Given the description of an element on the screen output the (x, y) to click on. 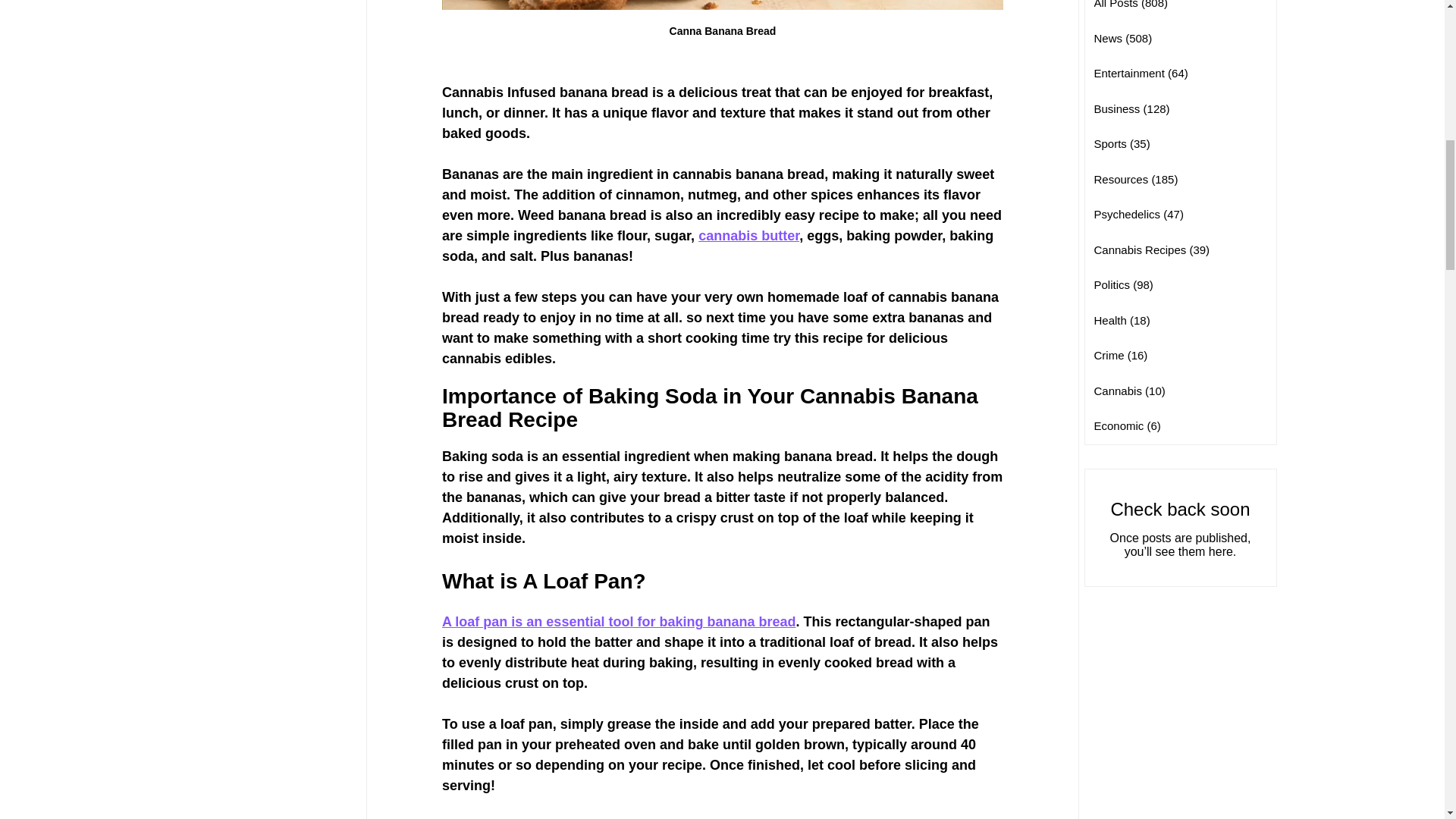
A loaf pan is an essential tool for baking banana bread (617, 621)
cannabis butter (748, 235)
